Given the description of an element on the screen output the (x, y) to click on. 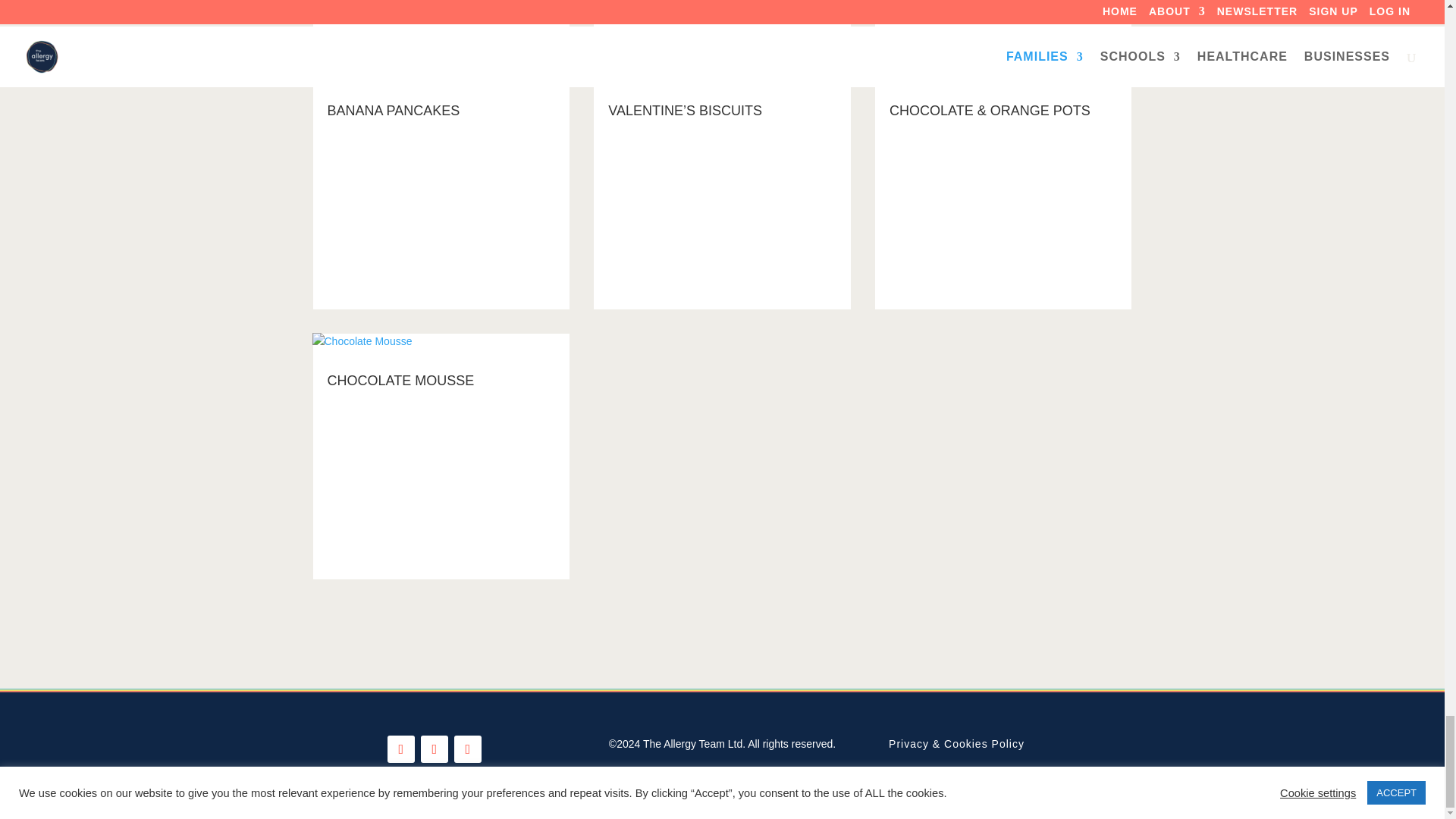
Follow on Instagram (467, 748)
Follow on Facebook (400, 748)
Follow on X (434, 748)
